Given the description of an element on the screen output the (x, y) to click on. 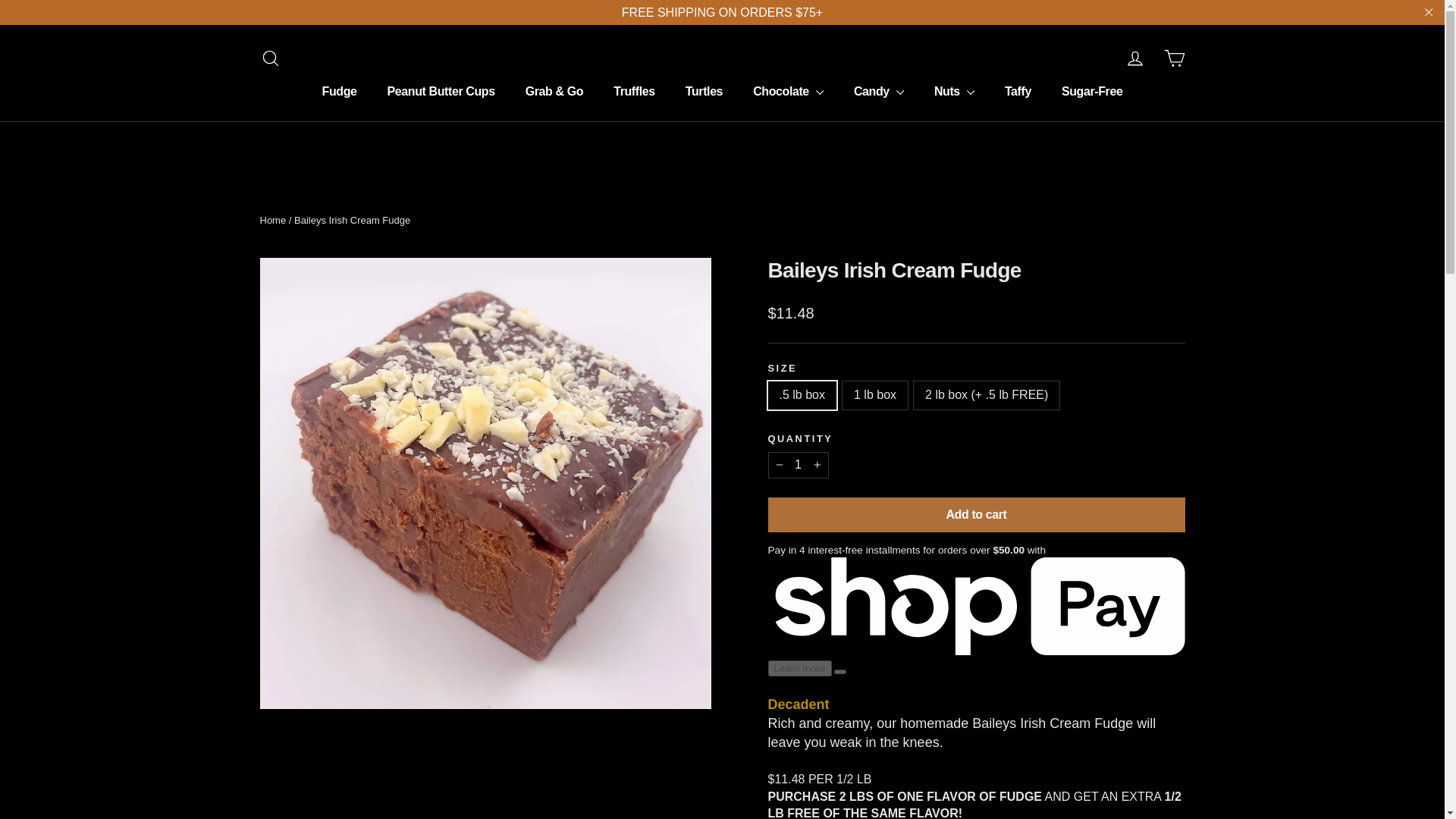
Back to the frontpage (272, 220)
account (1134, 57)
icon-search (270, 57)
icon-cart (1174, 57)
1 (797, 464)
icon-X (1429, 12)
